Given the description of an element on the screen output the (x, y) to click on. 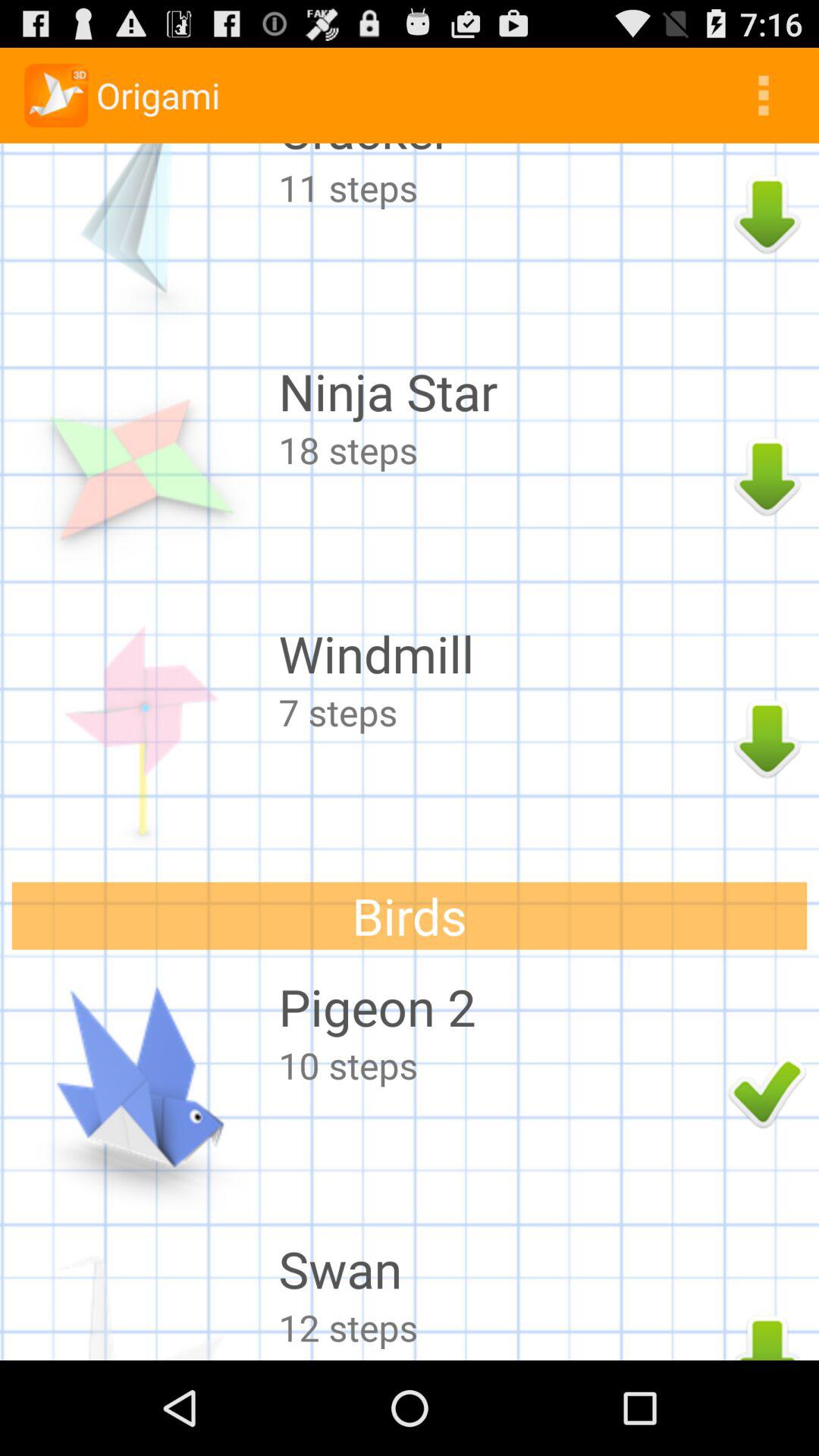
launch 10 steps item (498, 1064)
